Given the description of an element on the screen output the (x, y) to click on. 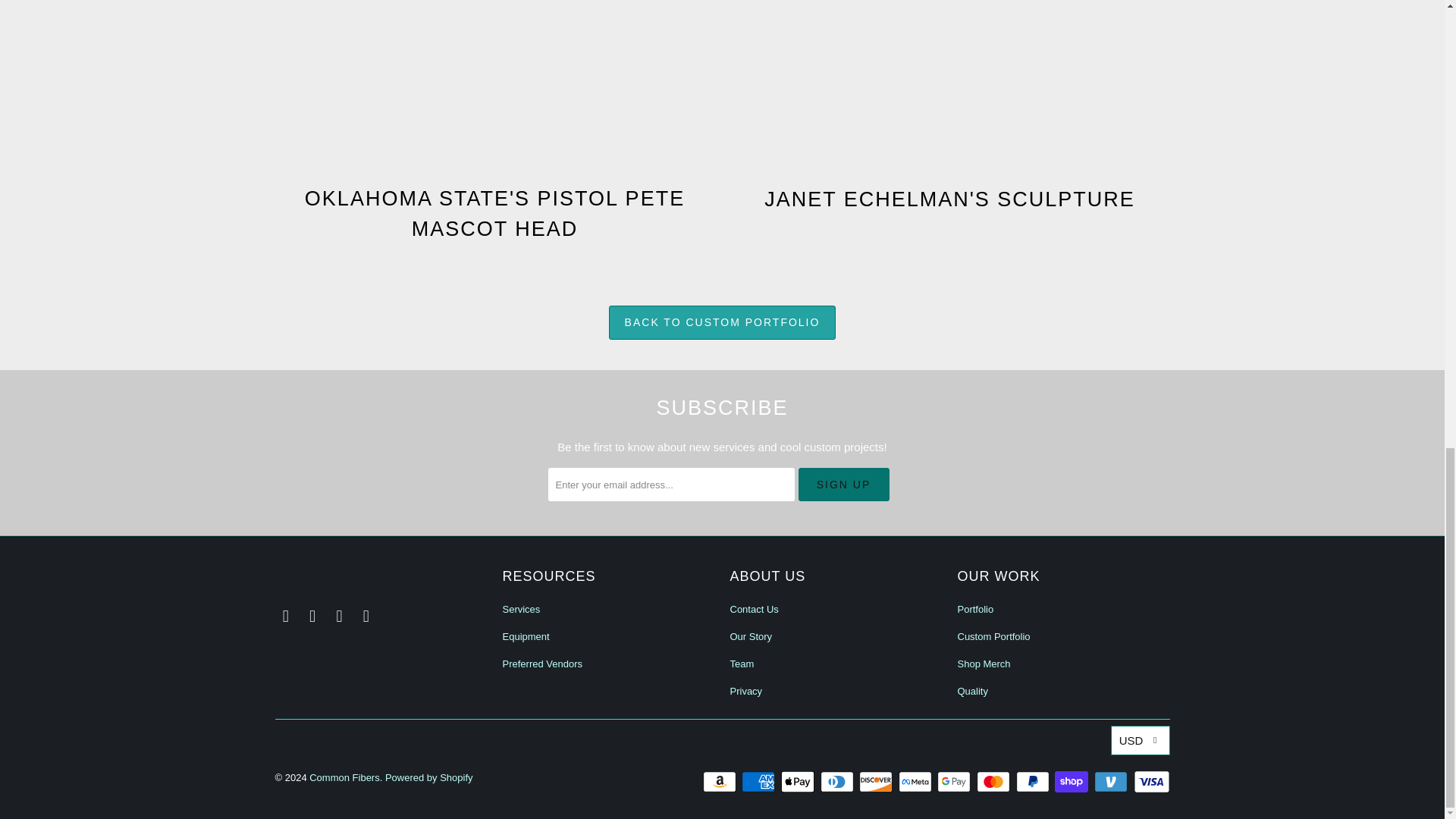
Amazon (721, 781)
Google Pay (955, 781)
Shop Pay (1072, 781)
PayPal (1034, 781)
Common Fibers on Facebook (286, 616)
Diners Club (839, 781)
Apple Pay (798, 781)
American Express (759, 781)
Common Fibers on TikTok (339, 616)
Visa (1150, 781)
Venmo (1112, 781)
Mastercard (994, 781)
Sign Up (842, 484)
Meta Pay (916, 781)
Common Fibers on YouTube (366, 616)
